Given the description of an element on the screen output the (x, y) to click on. 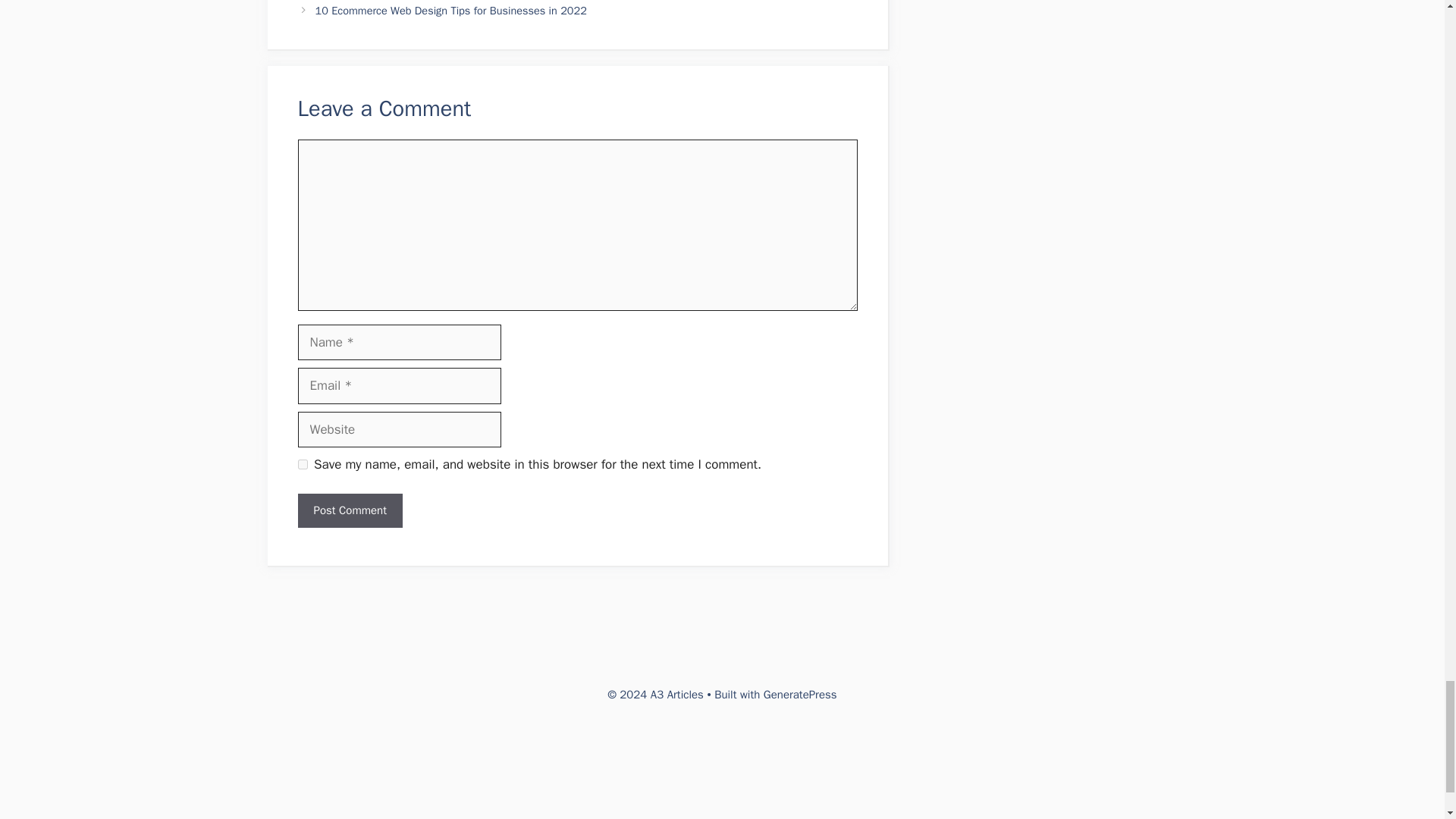
Post Comment (349, 510)
GeneratePress (799, 694)
10 Ecommerce Web Design Tips for Businesses in 2022 (450, 10)
yes (302, 464)
Post Comment (349, 510)
